Given the description of an element on the screen output the (x, y) to click on. 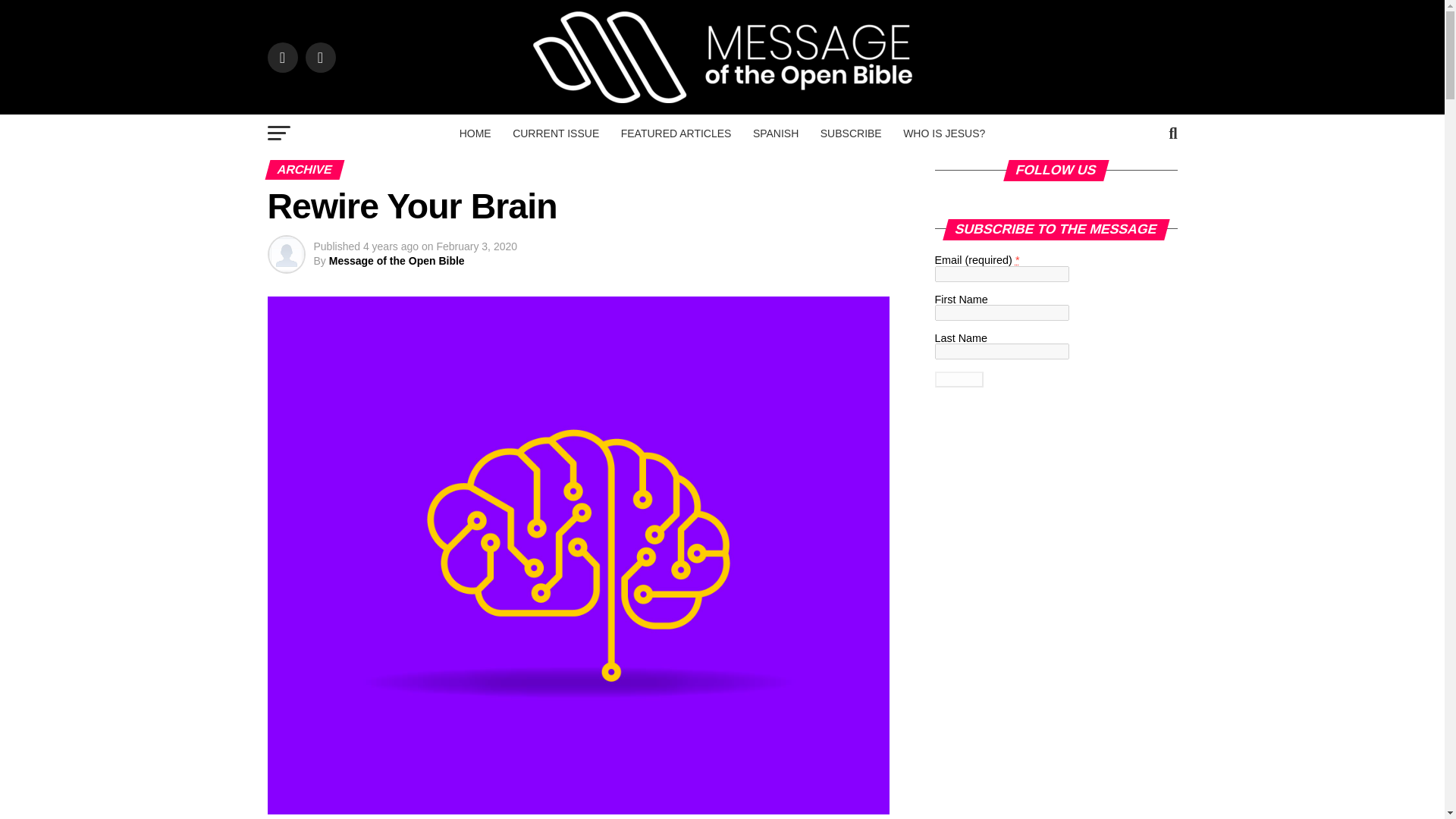
Message of the Open Bible (396, 260)
SUBSCRIBE (850, 133)
SPANISH (776, 133)
HOME (474, 133)
Posts by Message of the Open Bible (396, 260)
Sign up! (959, 379)
CURRENT ISSUE (555, 133)
WHO IS JESUS? (943, 133)
FEATURED ARTICLES (676, 133)
